Given the description of an element on the screen output the (x, y) to click on. 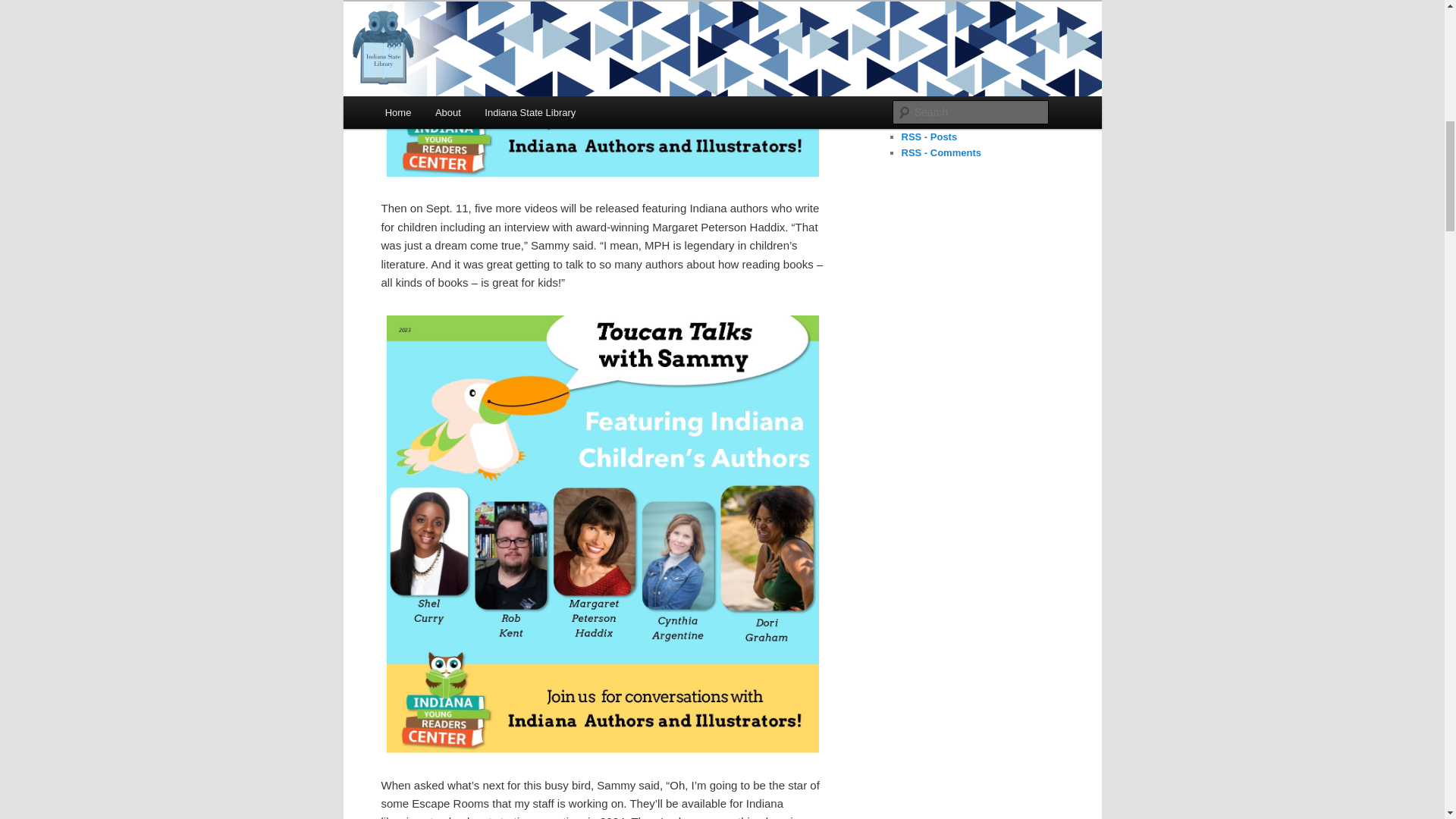
Subscribe to comments (940, 152)
Subscribe to posts (928, 136)
